Given the description of an element on the screen output the (x, y) to click on. 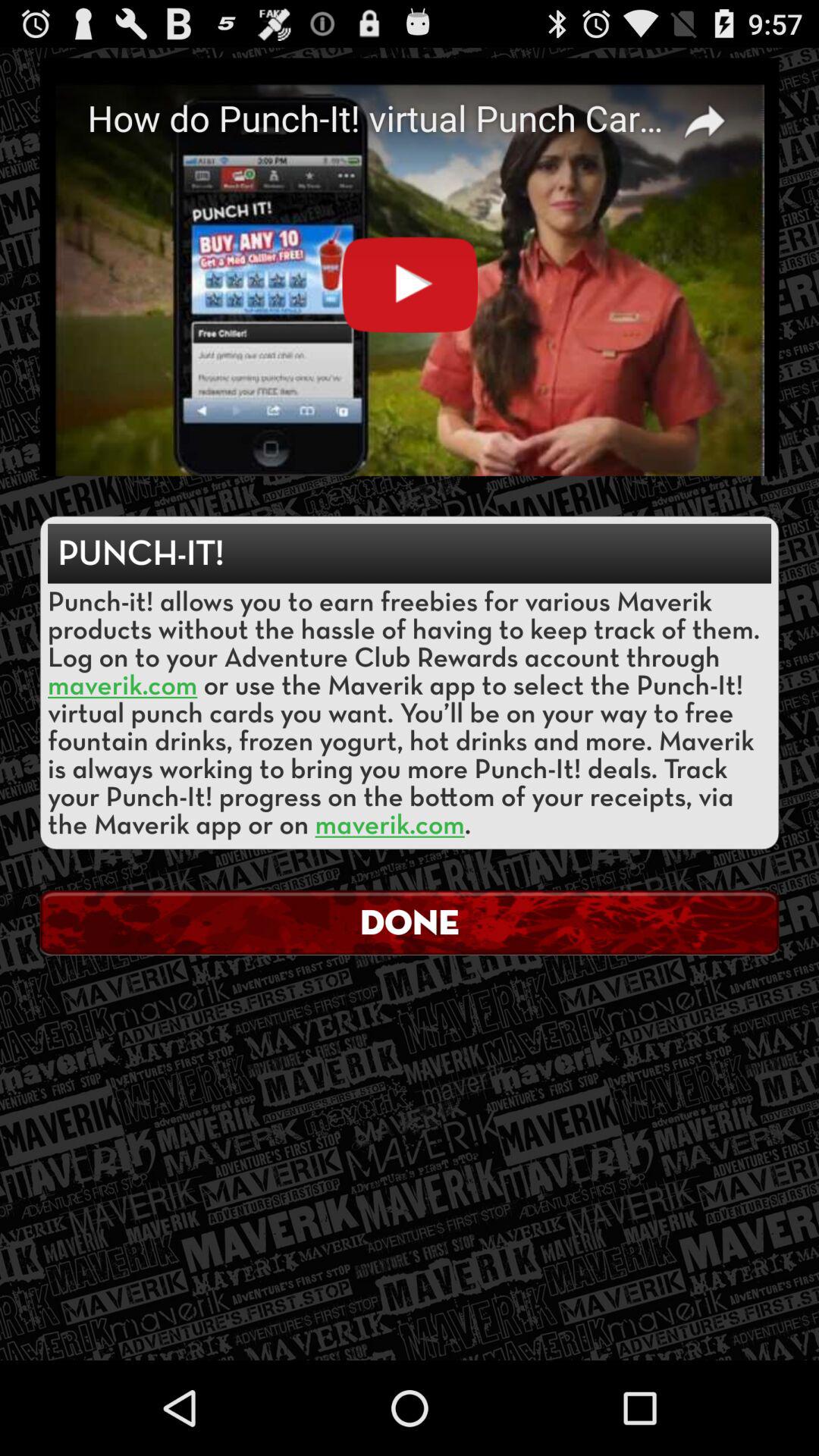
flip to the done (409, 922)
